Given the description of an element on the screen output the (x, y) to click on. 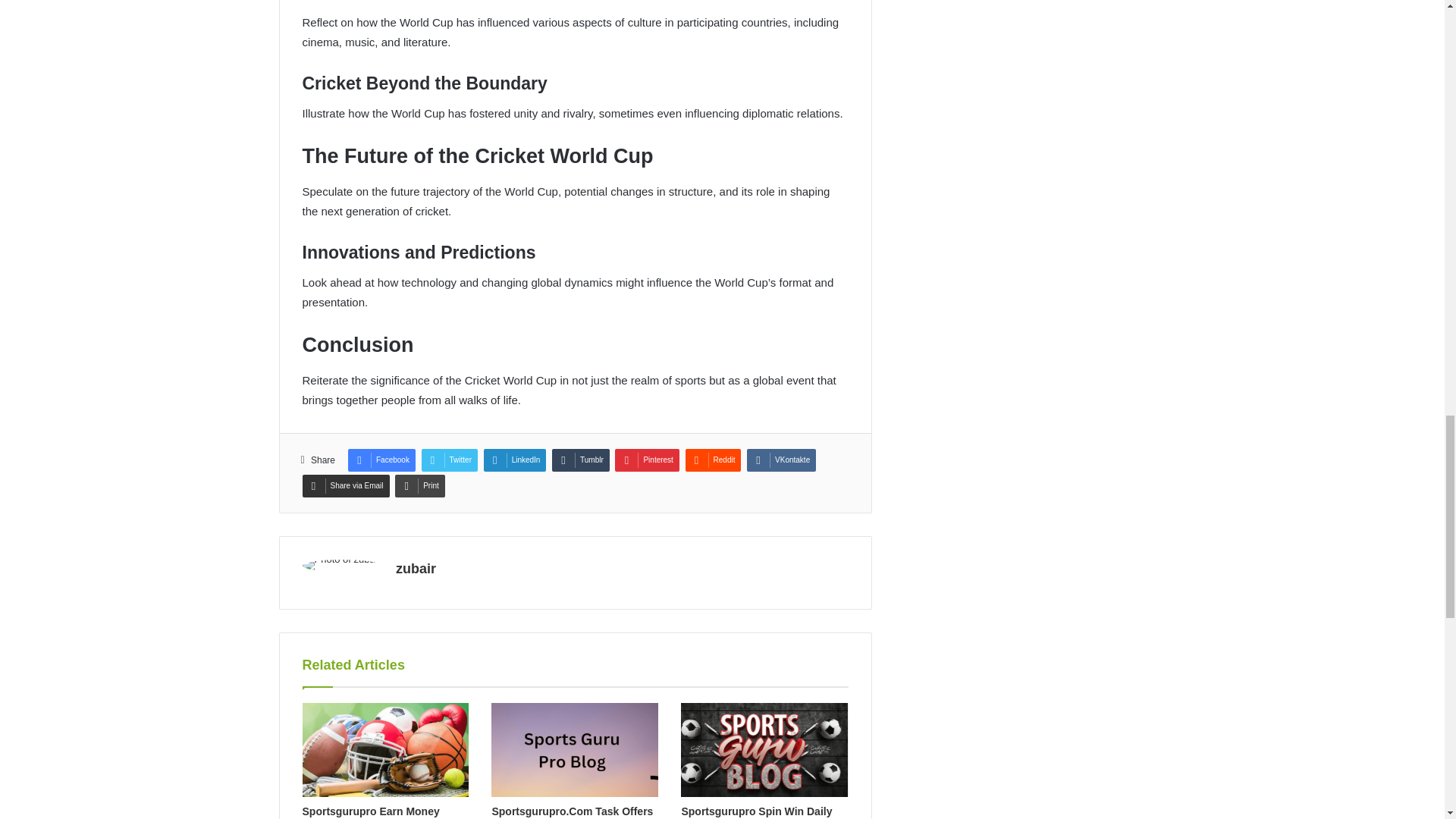
Sportsgurupro Earn Money (370, 811)
Share via Email (344, 486)
Tumblr (580, 459)
LinkedIn (515, 459)
Facebook (380, 459)
zubair (415, 568)
VKontakte (780, 459)
Reddit (713, 459)
Print (419, 486)
Facebook (380, 459)
Twitter (449, 459)
Pinterest (646, 459)
